Given the description of an element on the screen output the (x, y) to click on. 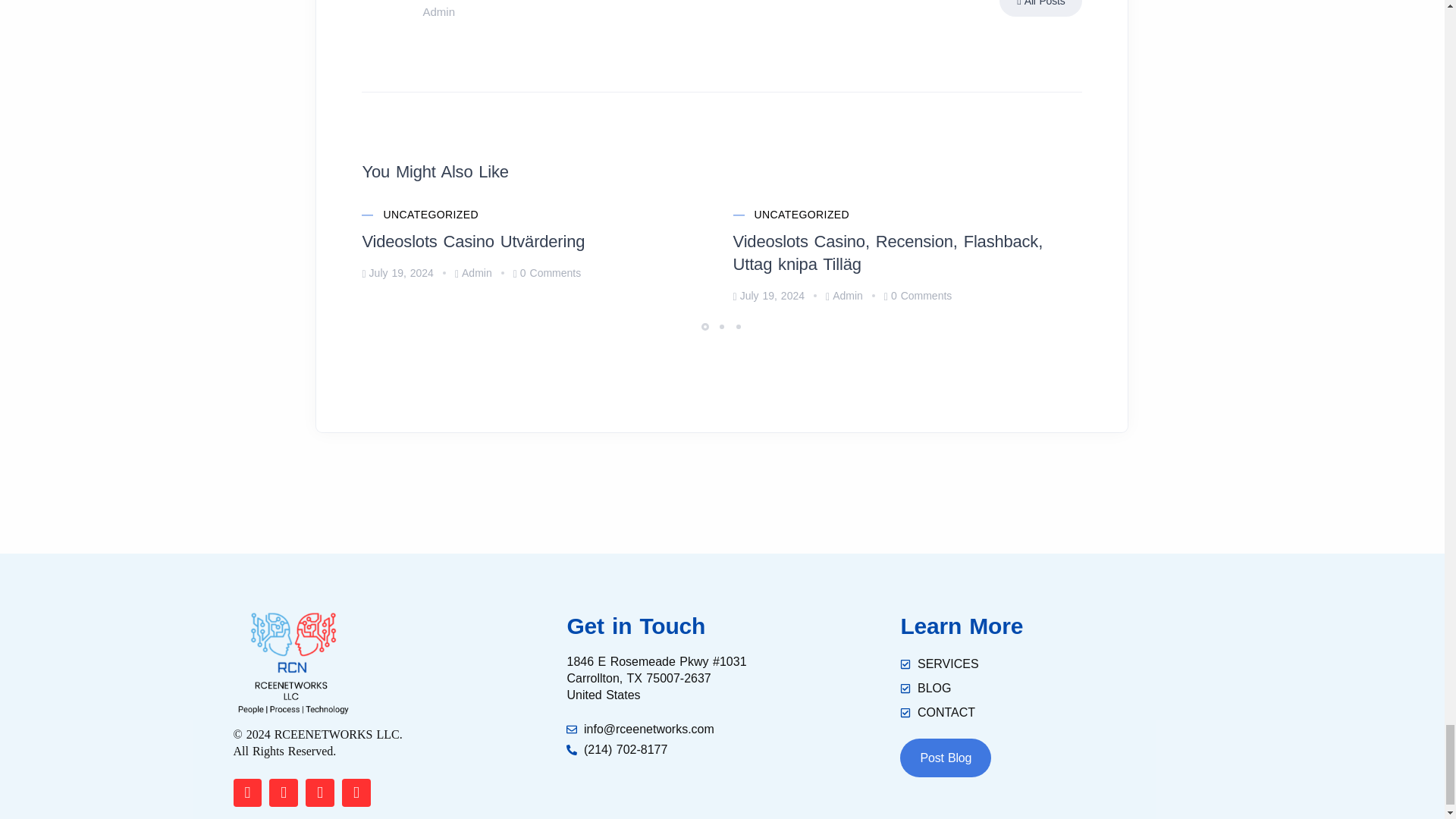
UNCATEGORIZED (430, 215)
July 19, 2024 (396, 272)
July 19, 2024 (769, 295)
Admin (473, 272)
All Posts (1039, 8)
Admin (844, 295)
UNCATEGORIZED (802, 215)
